Given the description of an element on the screen output the (x, y) to click on. 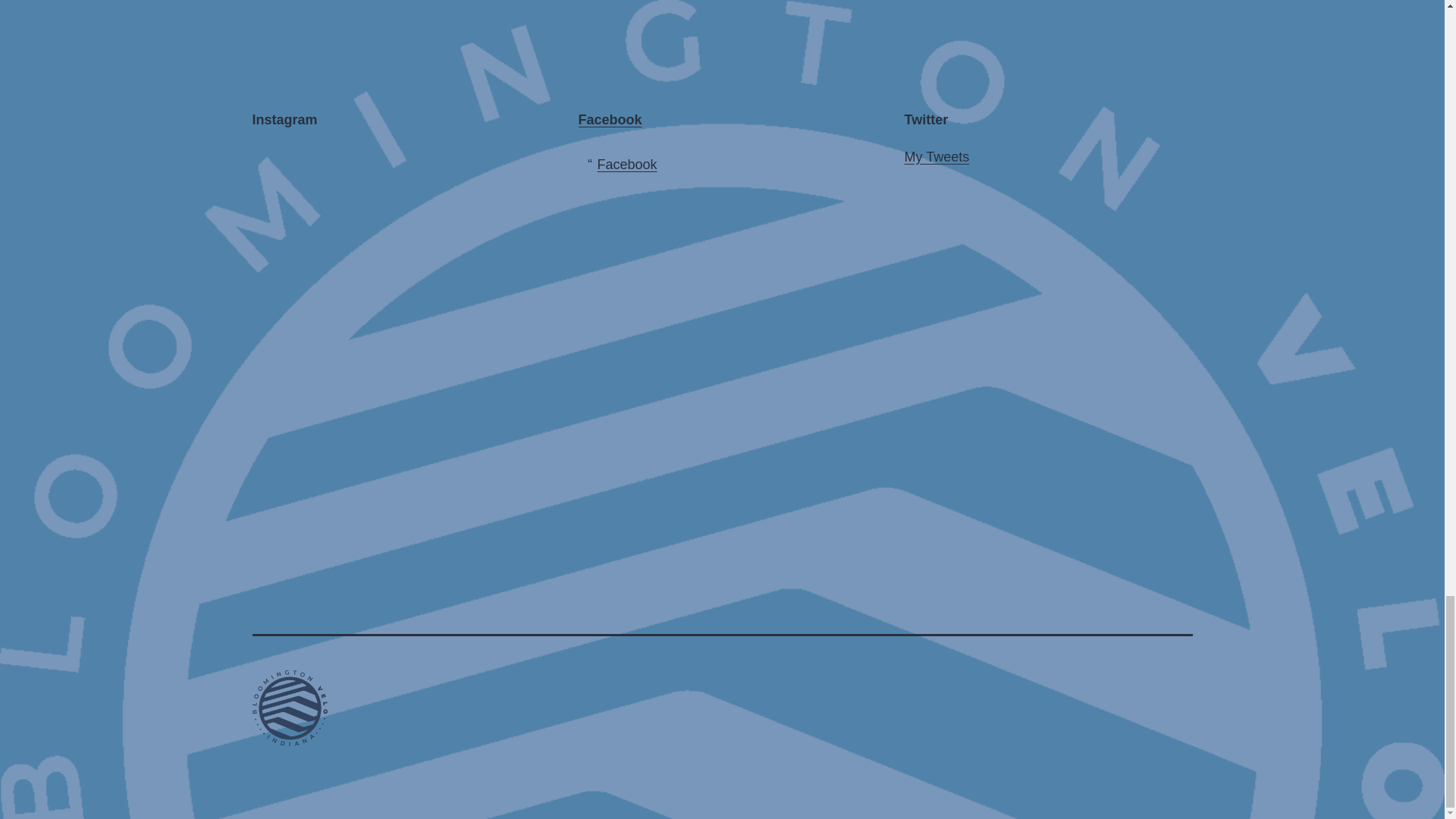
Facebook (610, 119)
Memorial Day Ride at 10am from the Gates (469, 363)
Achieved full no-drop mode today (322, 509)
Facebook (627, 164)
9AM at the Gates, Saturday, June 8, slight chance of rain (322, 215)
My Tweets (936, 156)
